Given the description of an element on the screen output the (x, y) to click on. 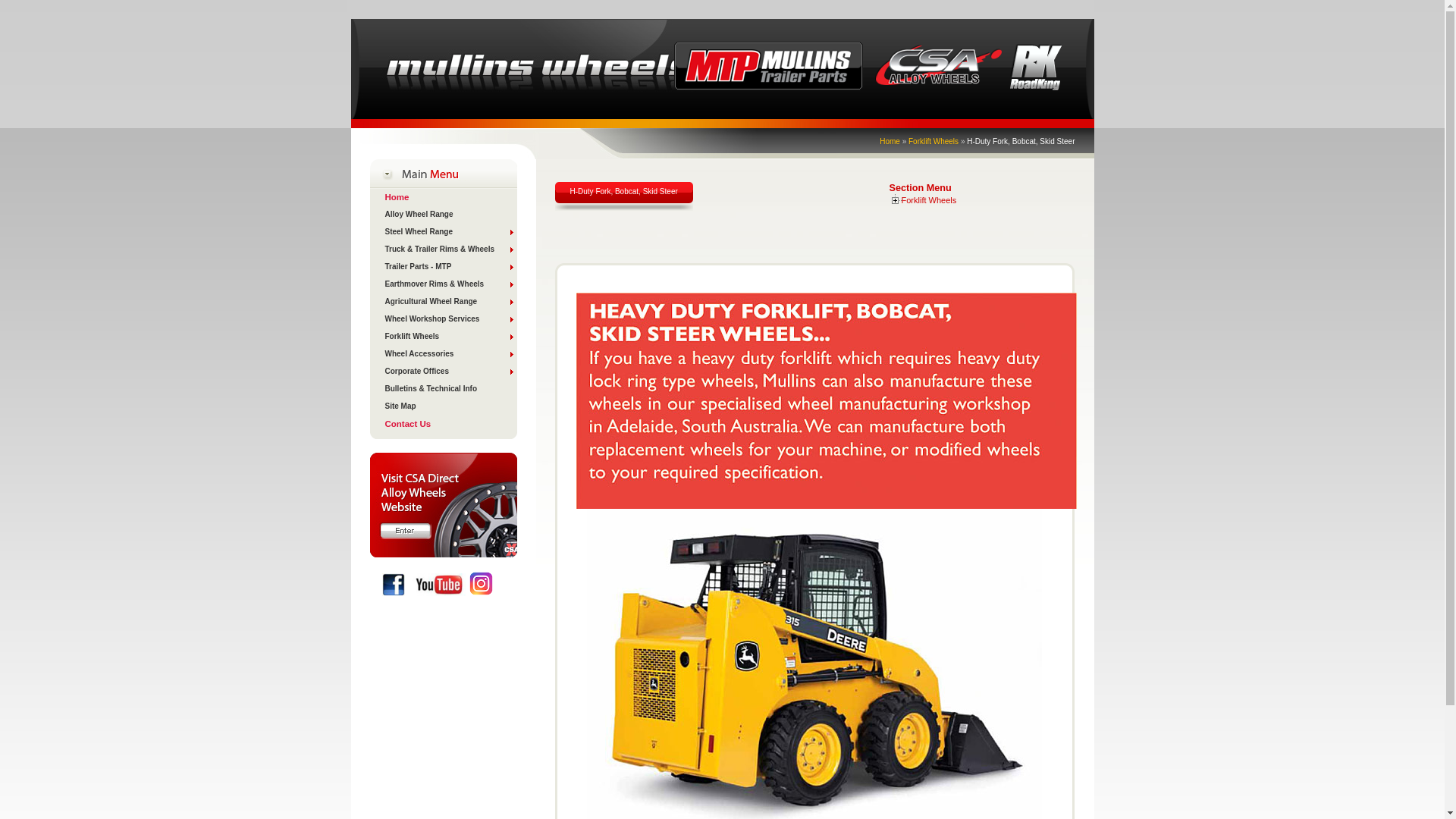
Home Element type: text (889, 141)
Forklift Wheels Element type: text (928, 199)
Truck & Trailer Rims & Wheels Element type: text (443, 249)
Trailer Parts - MTP Element type: text (443, 267)
Alloy Wheel Range Element type: text (443, 214)
Contact Us Element type: text (443, 424)
Corporate Offices Element type: text (443, 371)
 Click to View Us on Facebook  Element type: hover (393, 584)
Agricultural Wheel Range Element type: text (443, 301)
Home Element type: text (443, 197)
Wheel Accessories Element type: text (443, 354)
 Click to View Us on Instagram  Element type: hover (480, 583)
Wheel Workshop Services Element type: text (443, 319)
Section Menu Element type: text (919, 187)
Bulletins & Technical Info Element type: text (443, 389)
Steel Wheel Range Element type: text (443, 232)
Forklift Wheels Element type: text (933, 141)
Site Map Element type: text (443, 406)
Earthmover Rims & Wheels Element type: text (443, 284)
 Click to Visit CSA Direct  Element type: hover (443, 552)
Forklift Wheels Element type: text (443, 336)
 Click to View Us on YouTube  Element type: hover (438, 584)
